Given the description of an element on the screen output the (x, y) to click on. 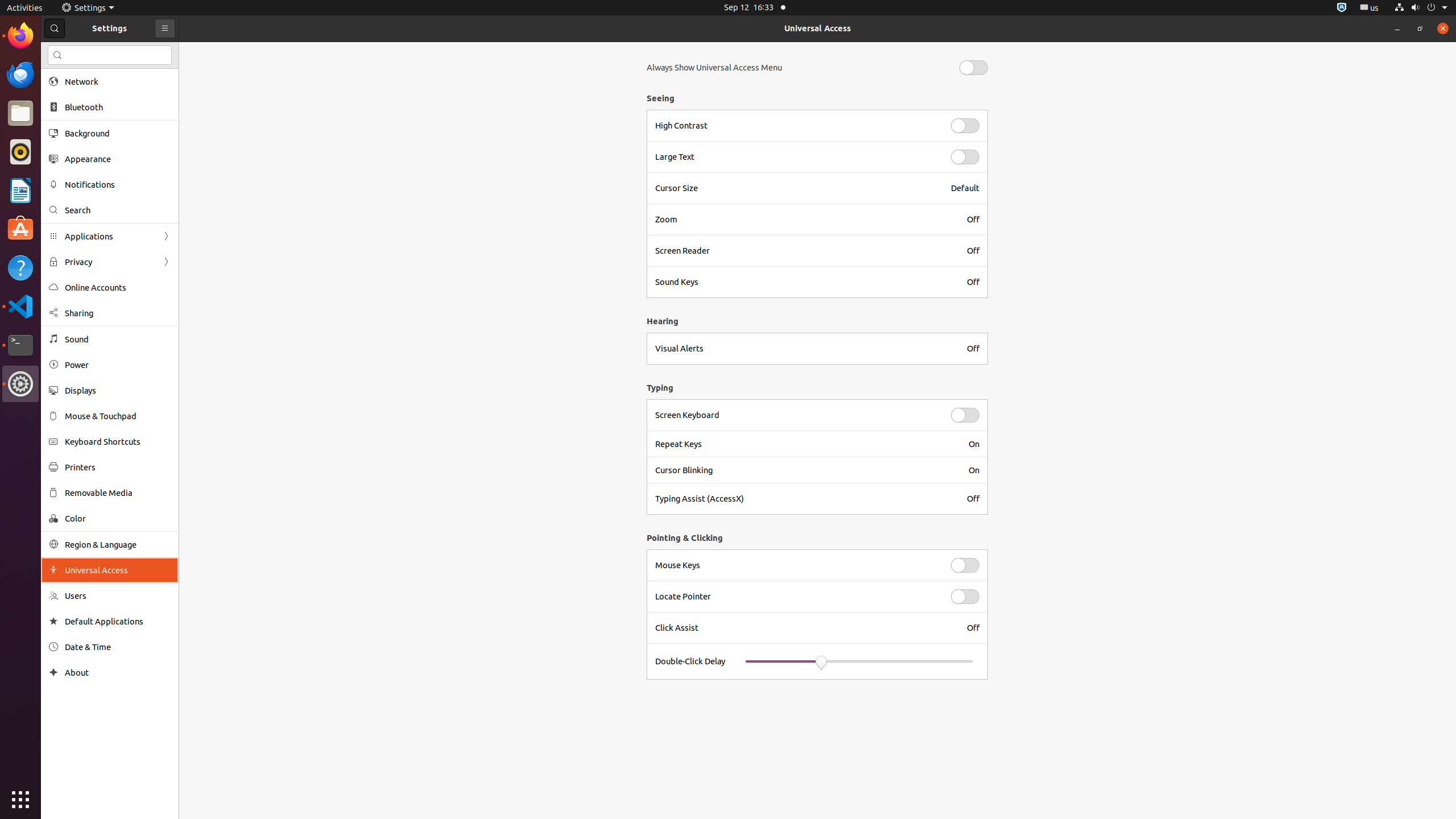
Mouse Keys Element type: label (796, 564)
